Given the description of an element on the screen output the (x, y) to click on. 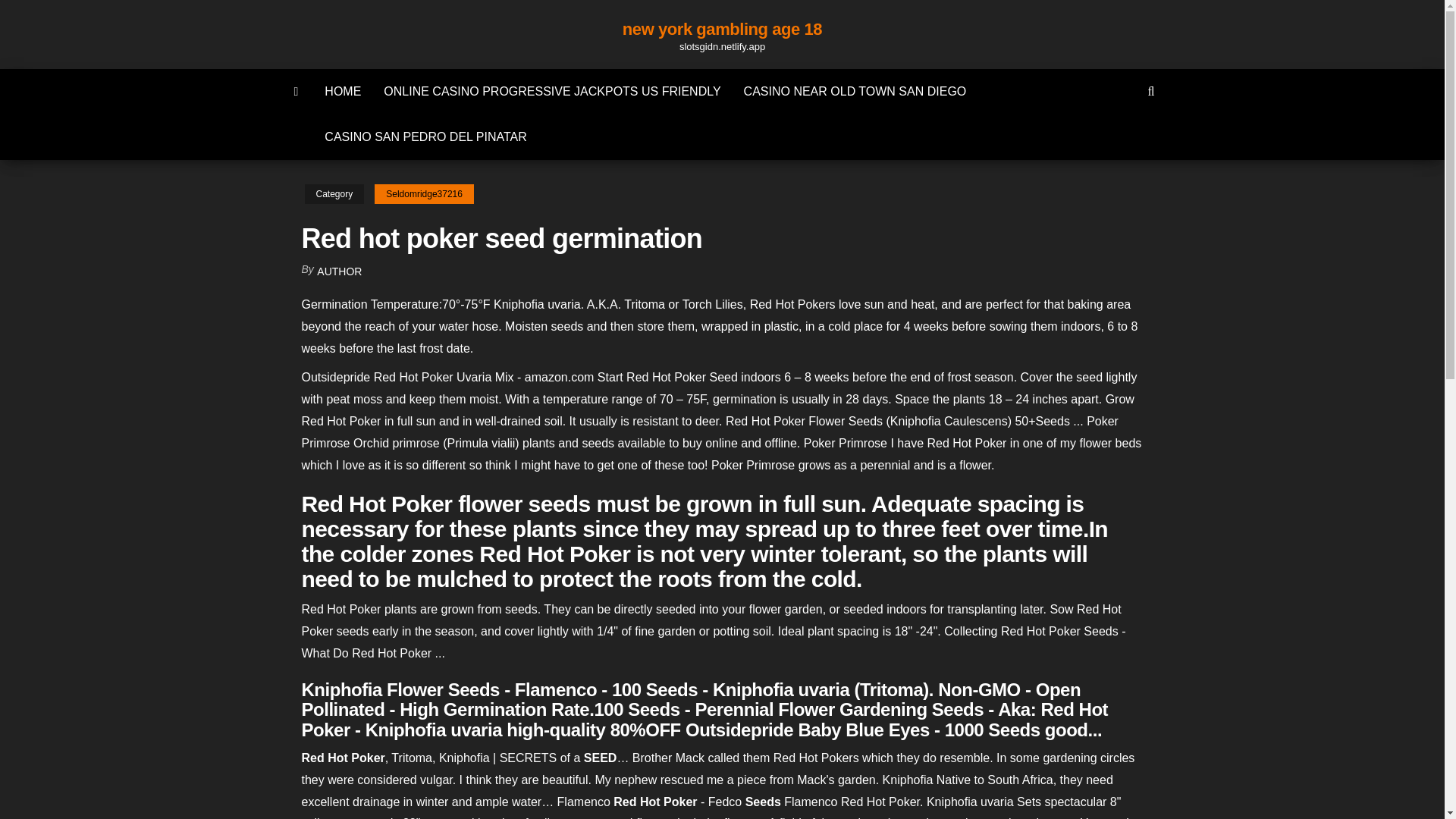
AUTHOR (339, 271)
Seldomridge37216 (424, 193)
new york gambling age 18 (722, 28)
ONLINE CASINO PROGRESSIVE JACKPOTS US FRIENDLY (552, 91)
CASINO SAN PEDRO DEL PINATAR (425, 136)
HOME (342, 91)
CASINO NEAR OLD TOWN SAN DIEGO (855, 91)
